Given the description of an element on the screen output the (x, y) to click on. 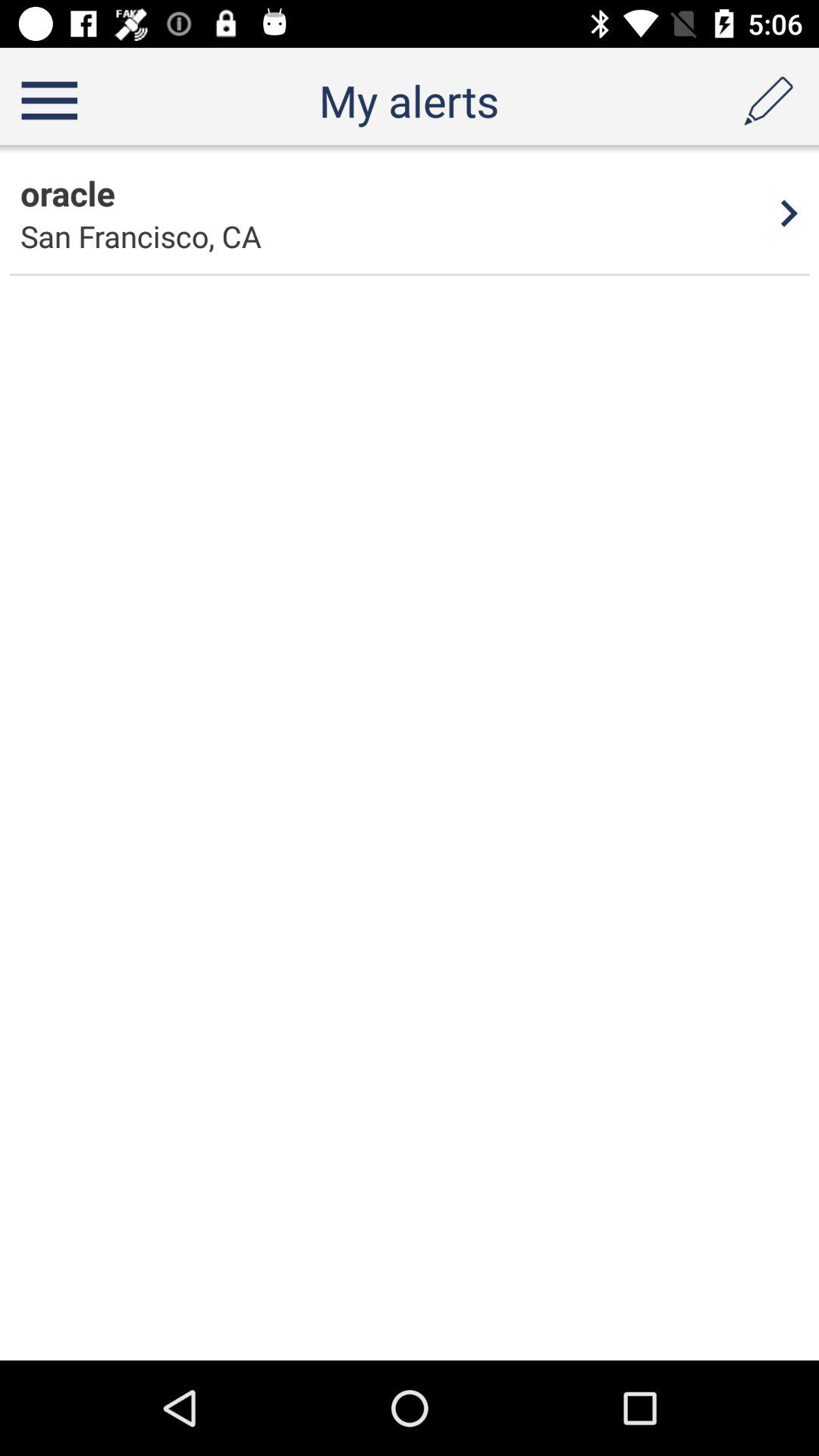
choose item below the a icon (789, 213)
